Given the description of an element on the screen output the (x, y) to click on. 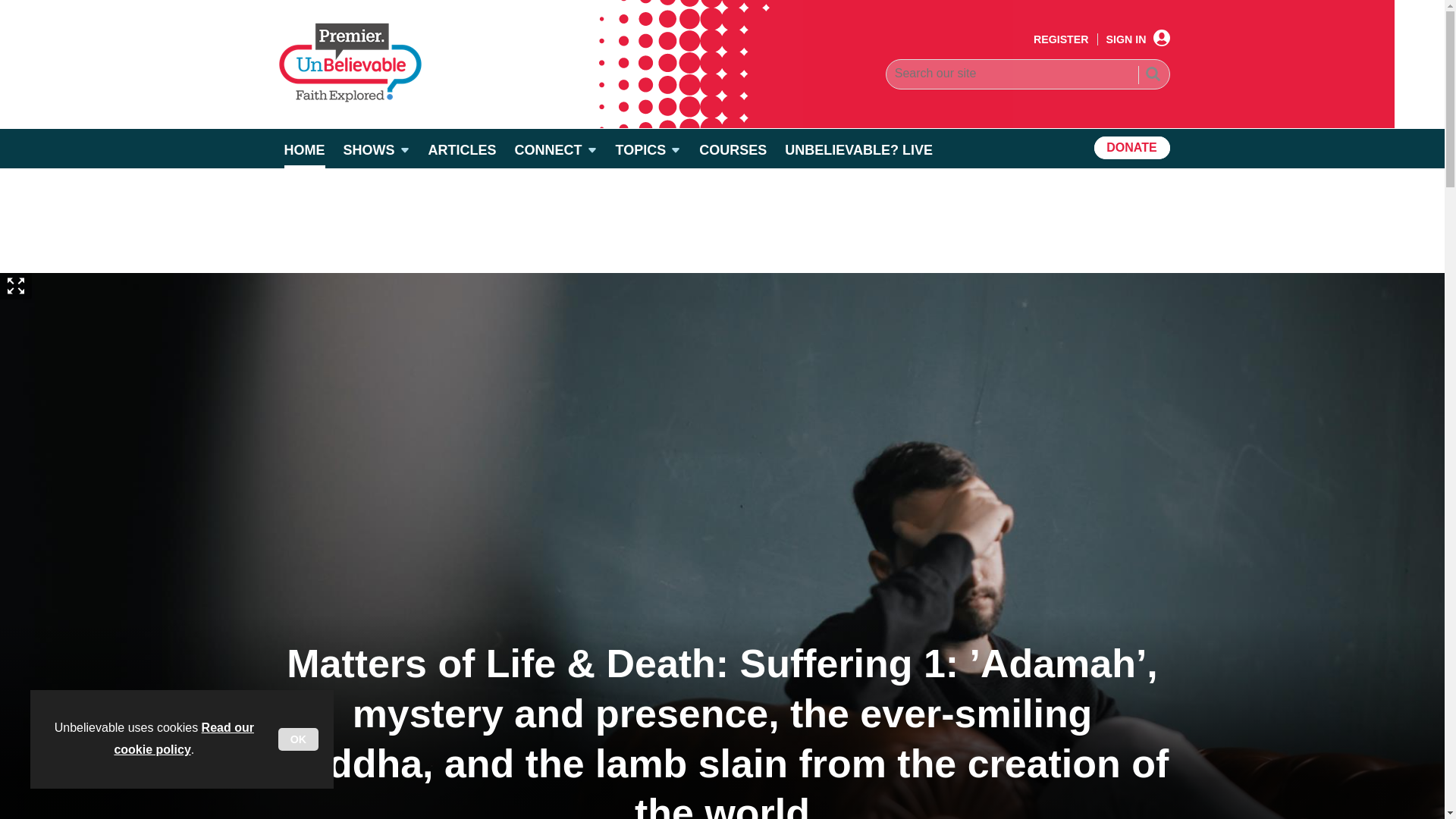
Read our cookie policy (183, 738)
SEARCH (1152, 75)
SIGN IN (1138, 39)
REGISTER (1061, 39)
3rd party ad content (721, 220)
OK (298, 739)
